Given the description of an element on the screen output the (x, y) to click on. 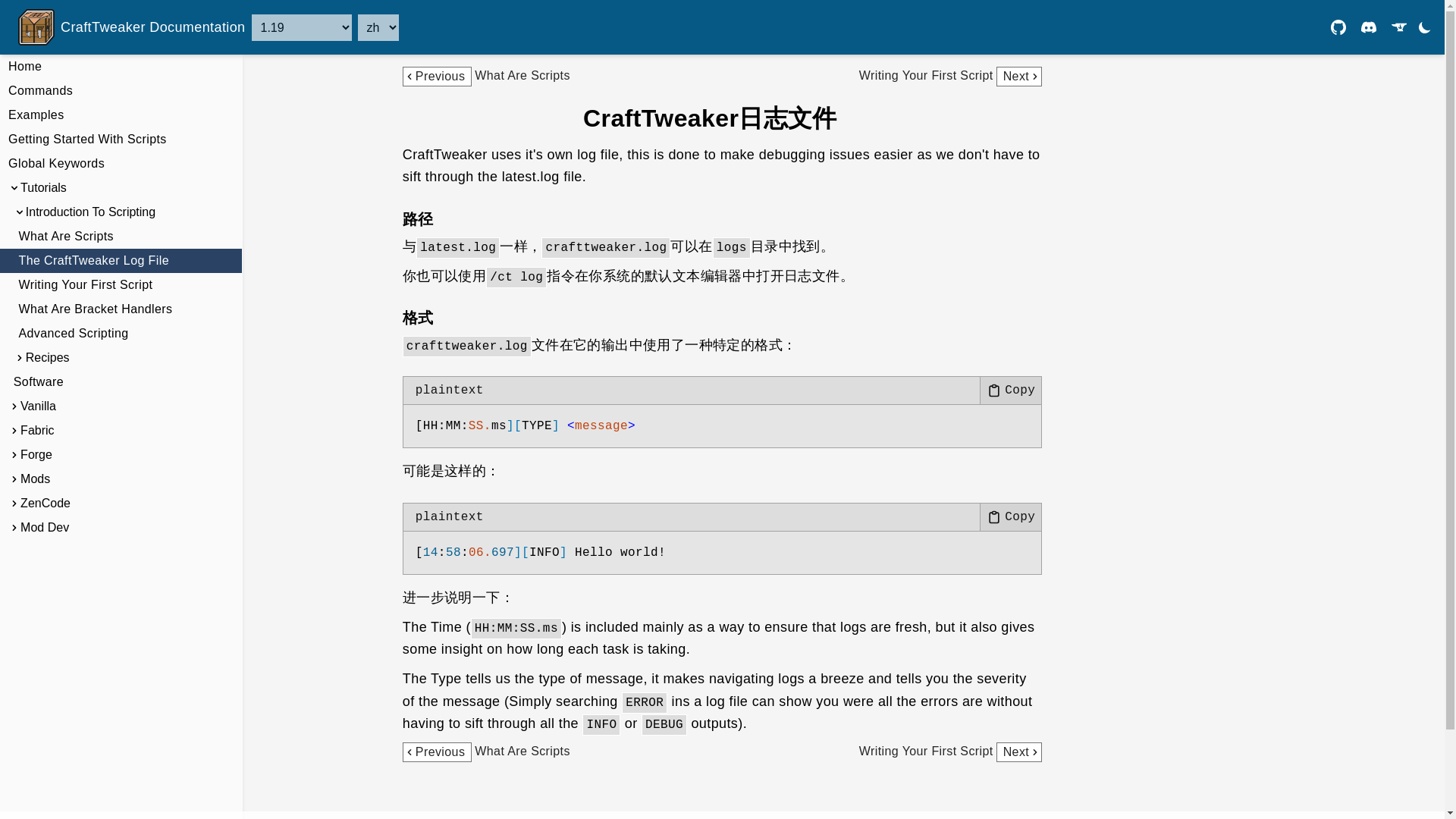
Getting Started With Scripts (120, 139)
Advanced Scripting (120, 333)
Home (120, 66)
The CraftTweaker Log File (120, 260)
Tutorials (120, 187)
Github (1338, 27)
Commands (120, 90)
What Are Bracket Handlers (950, 752)
